Given the description of an element on the screen output the (x, y) to click on. 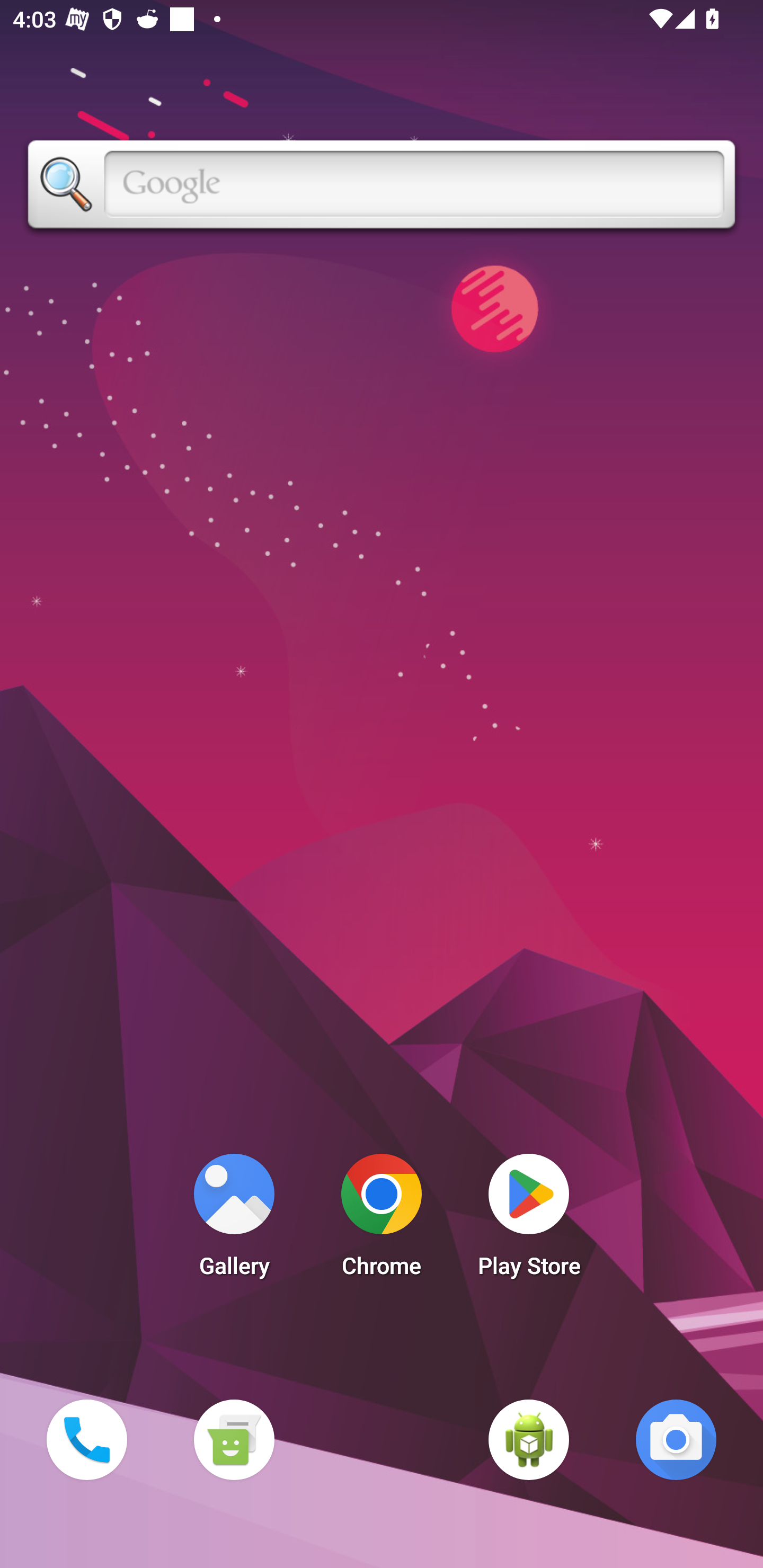
Gallery (233, 1220)
Chrome (381, 1220)
Play Store (528, 1220)
Phone (86, 1439)
Messaging (233, 1439)
WebView Browser Tester (528, 1439)
Camera (676, 1439)
